Given the description of an element on the screen output the (x, y) to click on. 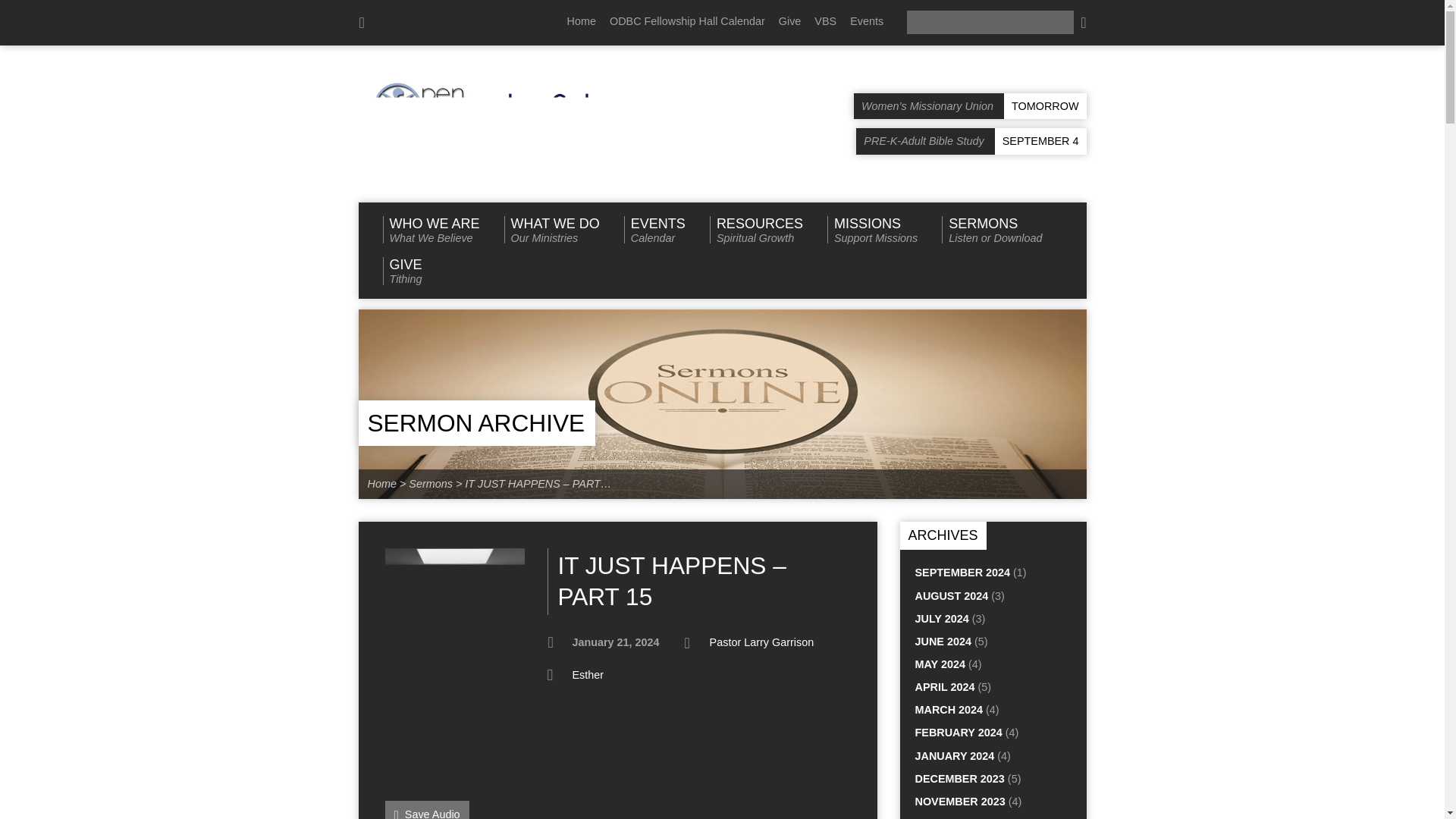
Download Audio (426, 809)
VBS (654, 229)
Sermon Archive (756, 229)
PRE-K-Adult Bible Study (824, 21)
ODBC Fellowship Hall Calendar (475, 422)
PRE-K-Adult Bible Study SEPTEMBER 4 (430, 229)
